Given the description of an element on the screen output the (x, y) to click on. 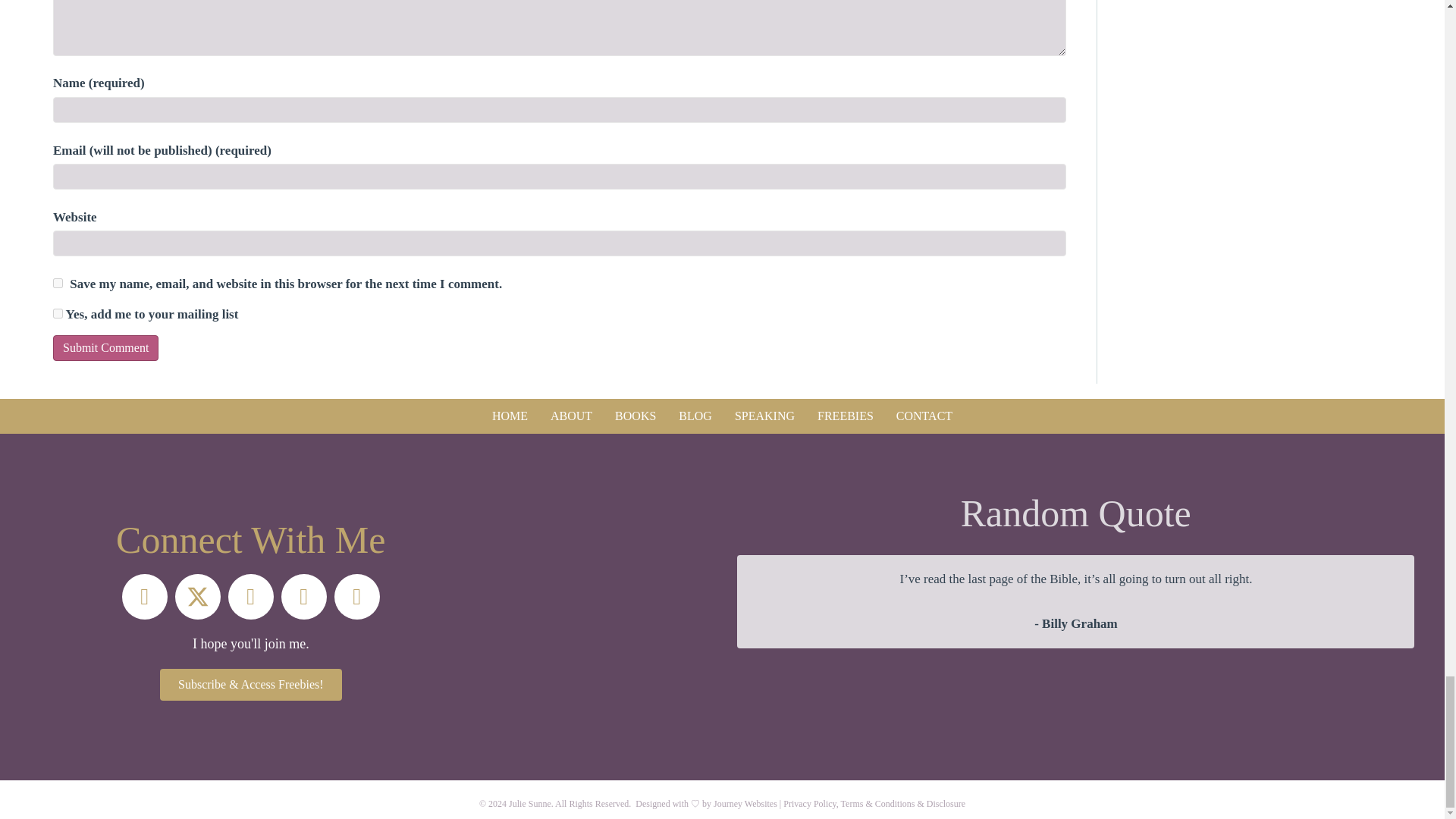
Submit Comment (105, 347)
1 (57, 313)
Facebook (144, 596)
yes (57, 283)
